Given the description of an element on the screen output the (x, y) to click on. 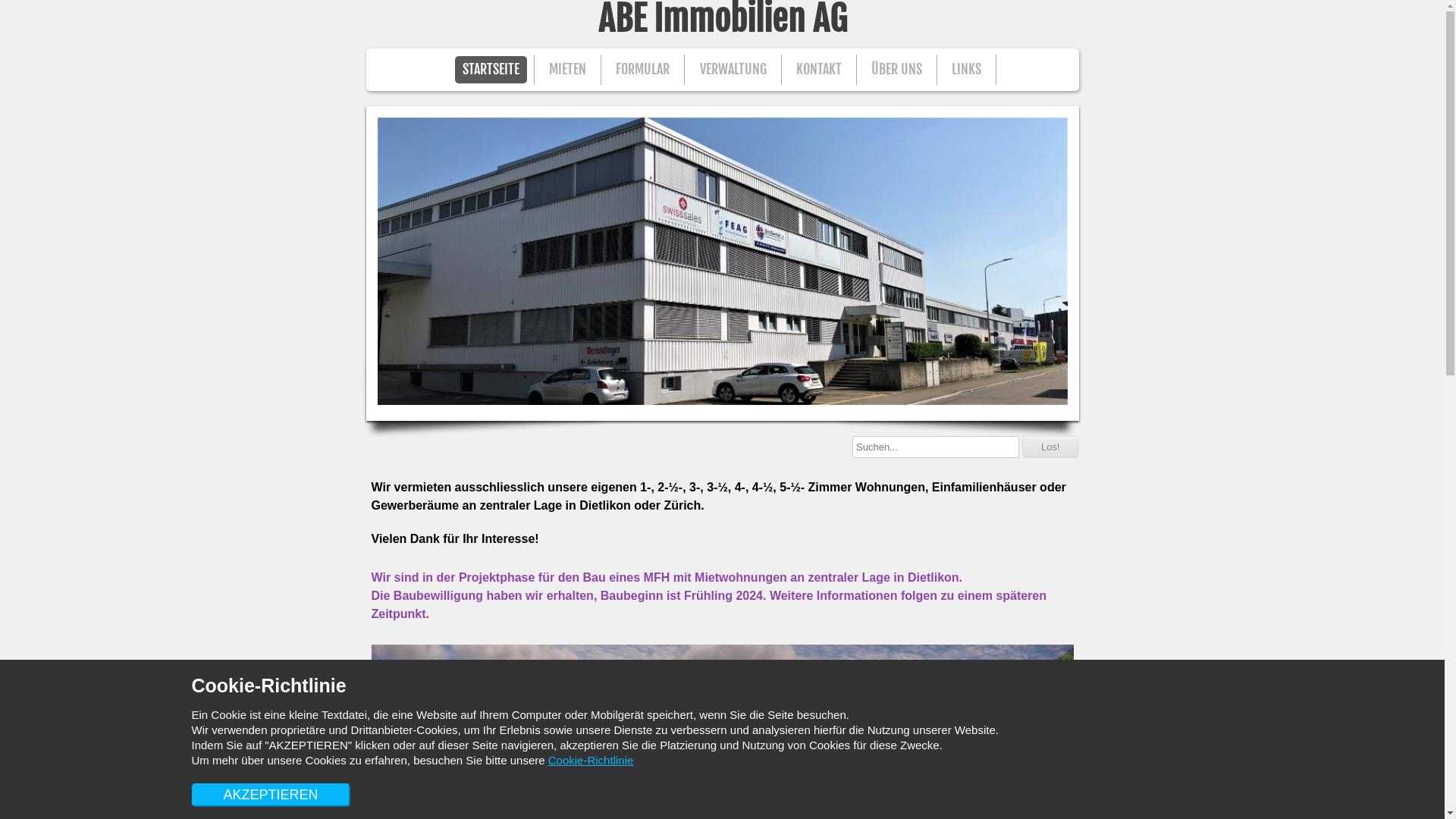
STARTSEITE Element type: text (491, 69)
FORMULAR Element type: text (642, 69)
AKZEPTIEREN Element type: text (270, 794)
KONTAKT Element type: text (818, 69)
ABE Immobilien AG Element type: text (721, 18)
LINKS Element type: text (966, 69)
VERWALTUNG Element type: text (732, 69)
MIETEN Element type: text (567, 69)
Cookie-Richtlinie Element type: text (590, 759)
Los! Element type: text (1050, 447)
